Given the description of an element on the screen output the (x, y) to click on. 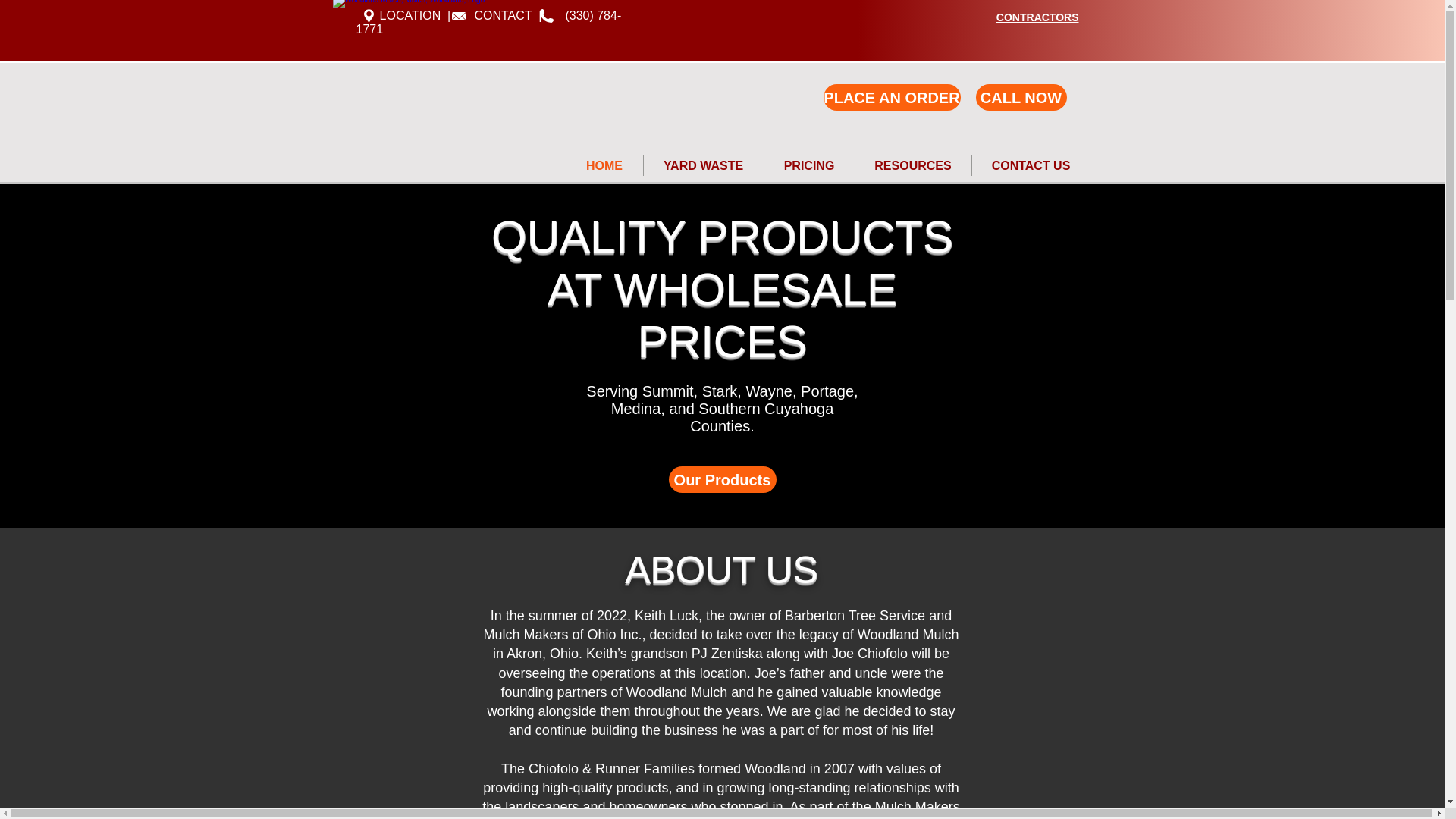
PLACE AN ORDER (892, 97)
RESOURCES (913, 165)
CALL NOW (1020, 97)
PRICING (809, 165)
Our Products (722, 479)
YARD WASTE (702, 165)
CONTACT US (1031, 165)
HOME (604, 165)
CONTRACTORS (1036, 17)
       LOCATION (398, 15)
